Given the description of an element on the screen output the (x, y) to click on. 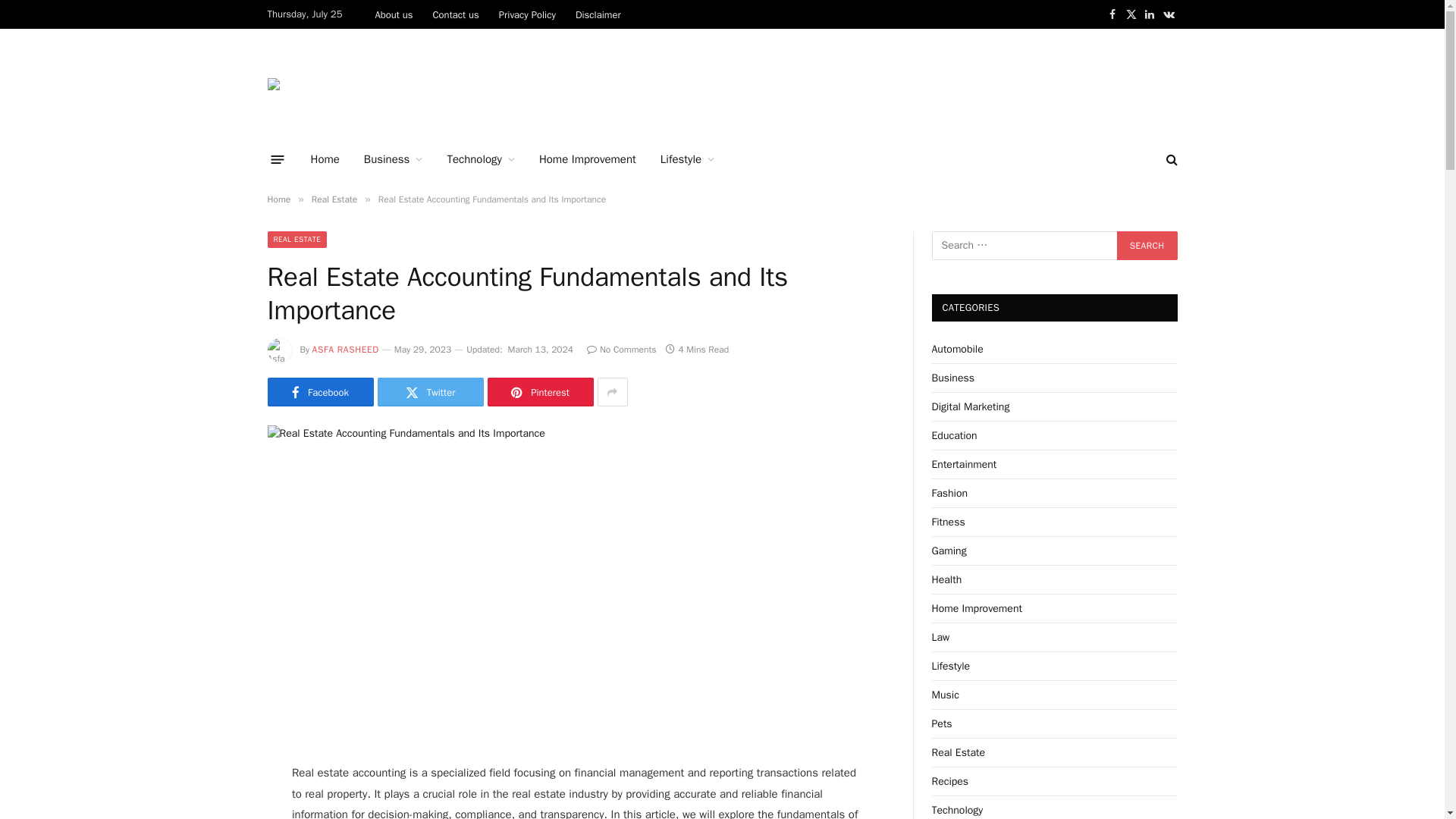
About us (393, 14)
Contact us (456, 14)
Home (325, 159)
Disclaimer (598, 14)
Search (1146, 245)
Technology (480, 159)
Business (393, 159)
Privacy Policy (527, 14)
Search (1146, 245)
